Given the description of an element on the screen output the (x, y) to click on. 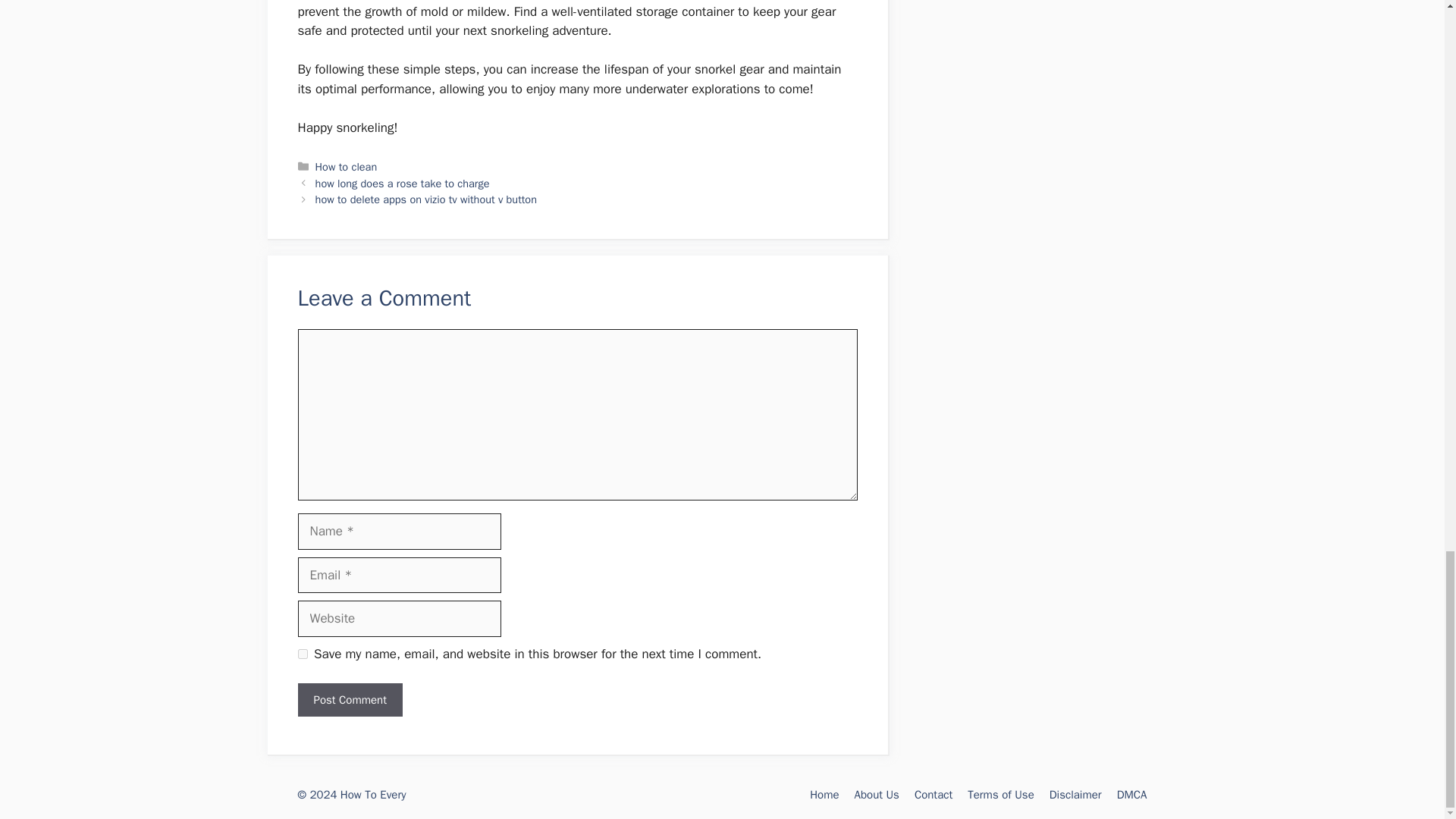
Terms of Use (1000, 794)
Contact (933, 794)
Post Comment (349, 700)
DMCA (1131, 794)
How to clean (346, 166)
About Us (876, 794)
how long does a rose take to charge (402, 183)
Post Comment (349, 700)
Disclaimer (1075, 794)
yes (302, 654)
Home (823, 794)
how to delete apps on vizio tv without v button (426, 199)
